Given the description of an element on the screen output the (x, y) to click on. 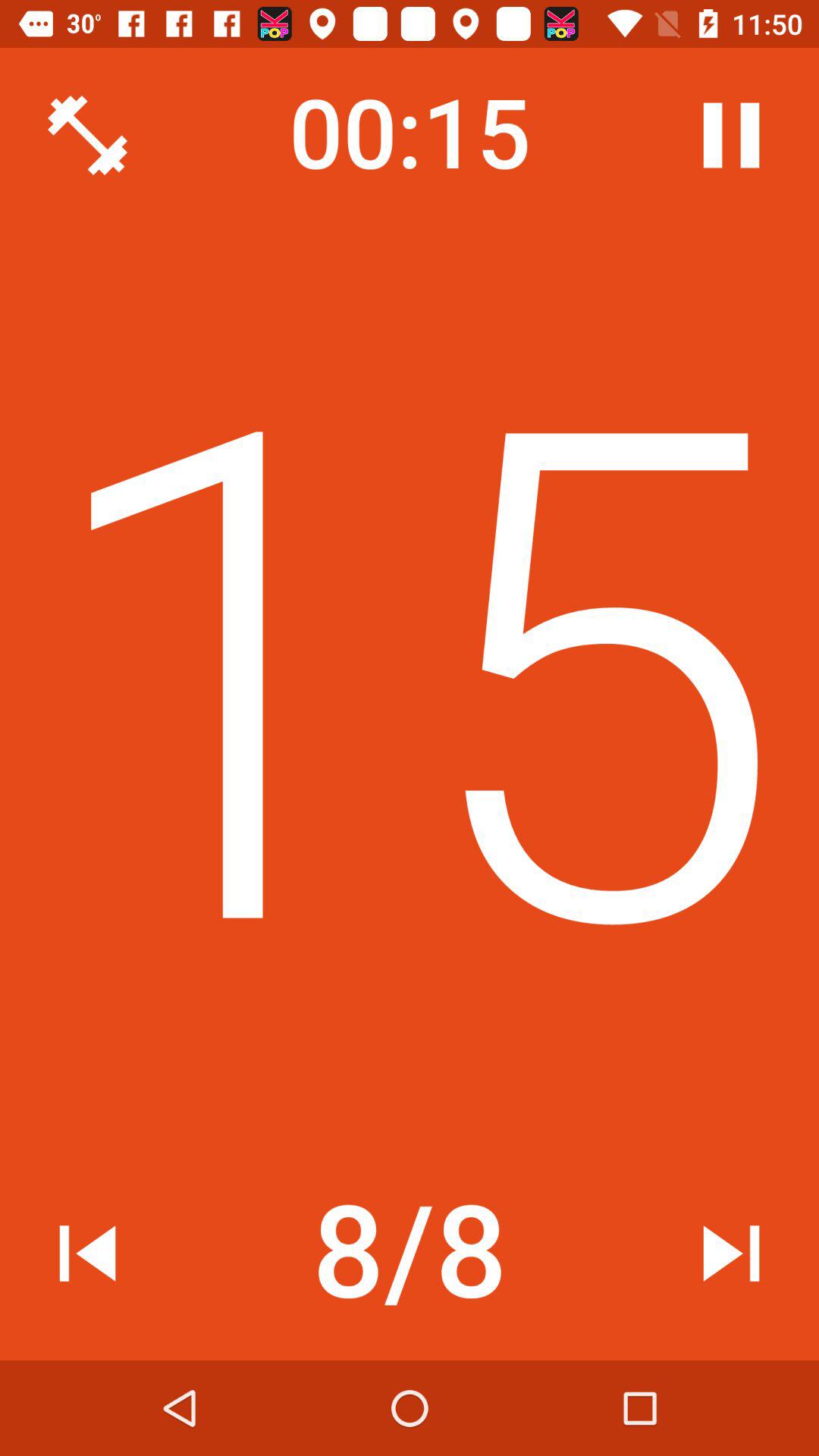
launch the item below the 14 (731, 1253)
